Given the description of an element on the screen output the (x, y) to click on. 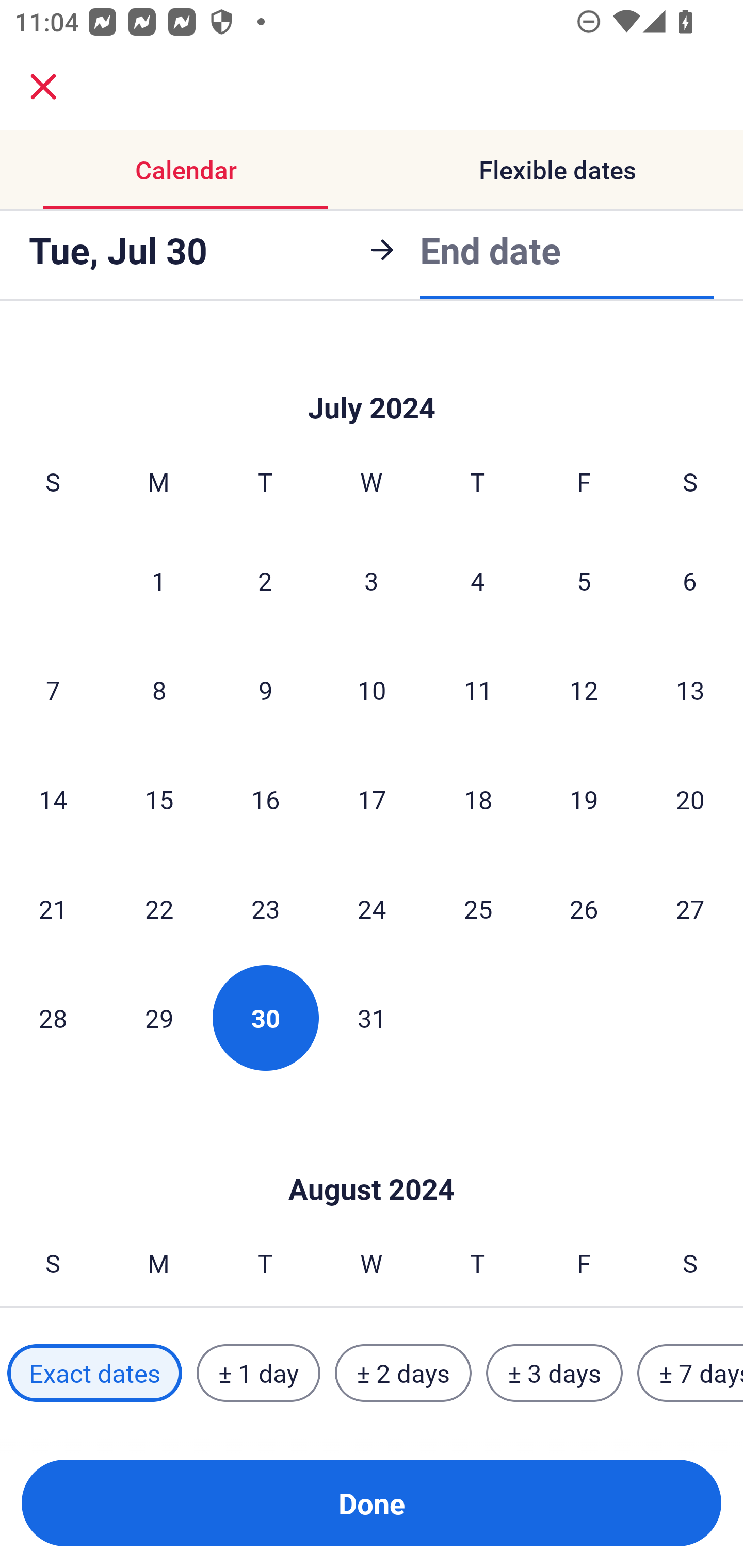
close. (43, 86)
Flexible dates (557, 170)
End date (489, 249)
Skip to Done (371, 376)
1 Monday, July 1, 2024 (158, 580)
2 Tuesday, July 2, 2024 (264, 580)
3 Wednesday, July 3, 2024 (371, 580)
4 Thursday, July 4, 2024 (477, 580)
5 Friday, July 5, 2024 (583, 580)
6 Saturday, July 6, 2024 (689, 580)
7 Sunday, July 7, 2024 (53, 689)
8 Monday, July 8, 2024 (159, 689)
9 Tuesday, July 9, 2024 (265, 689)
10 Wednesday, July 10, 2024 (371, 689)
11 Thursday, July 11, 2024 (477, 689)
12 Friday, July 12, 2024 (584, 689)
13 Saturday, July 13, 2024 (690, 689)
14 Sunday, July 14, 2024 (53, 798)
15 Monday, July 15, 2024 (159, 798)
16 Tuesday, July 16, 2024 (265, 798)
17 Wednesday, July 17, 2024 (371, 798)
18 Thursday, July 18, 2024 (477, 798)
19 Friday, July 19, 2024 (584, 798)
20 Saturday, July 20, 2024 (690, 798)
21 Sunday, July 21, 2024 (53, 908)
22 Monday, July 22, 2024 (159, 908)
23 Tuesday, July 23, 2024 (265, 908)
24 Wednesday, July 24, 2024 (371, 908)
25 Thursday, July 25, 2024 (477, 908)
26 Friday, July 26, 2024 (584, 908)
27 Saturday, July 27, 2024 (690, 908)
28 Sunday, July 28, 2024 (53, 1017)
29 Monday, July 29, 2024 (159, 1017)
31 Wednesday, July 31, 2024 (371, 1017)
Skip to Done (371, 1157)
Exact dates (94, 1372)
± 1 day (258, 1372)
± 2 days (403, 1372)
± 3 days (553, 1372)
± 7 days (690, 1372)
Done (371, 1502)
